Given the description of an element on the screen output the (x, y) to click on. 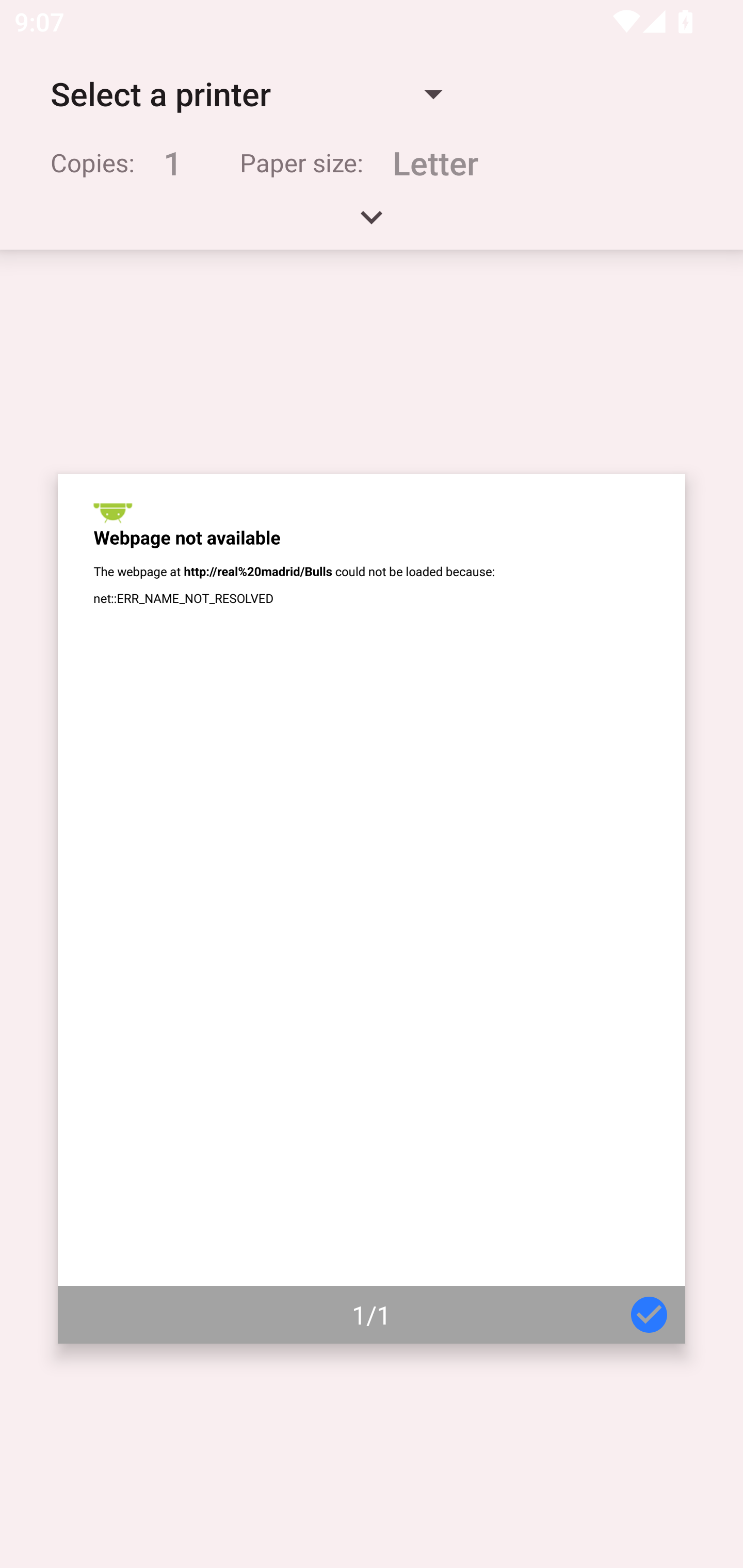
Select a printer (245, 93)
Expand handle (371, 224)
Page 1 of 1 1/1 (371, 908)
